Given the description of an element on the screen output the (x, y) to click on. 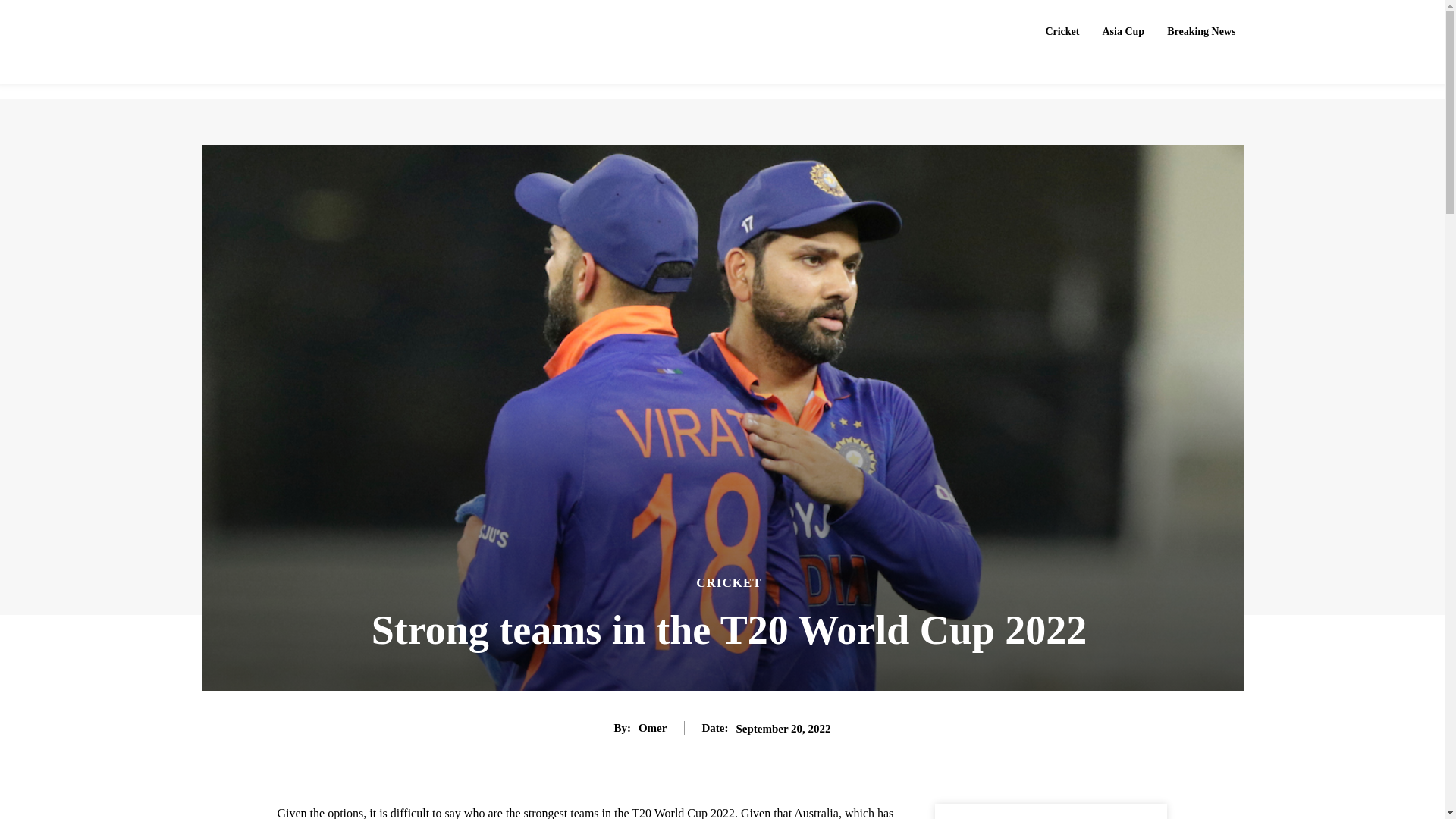
Asia Cup (1123, 31)
CRICKET (728, 582)
Cricket (1061, 31)
Breaking News (1200, 31)
